Given the description of an element on the screen output the (x, y) to click on. 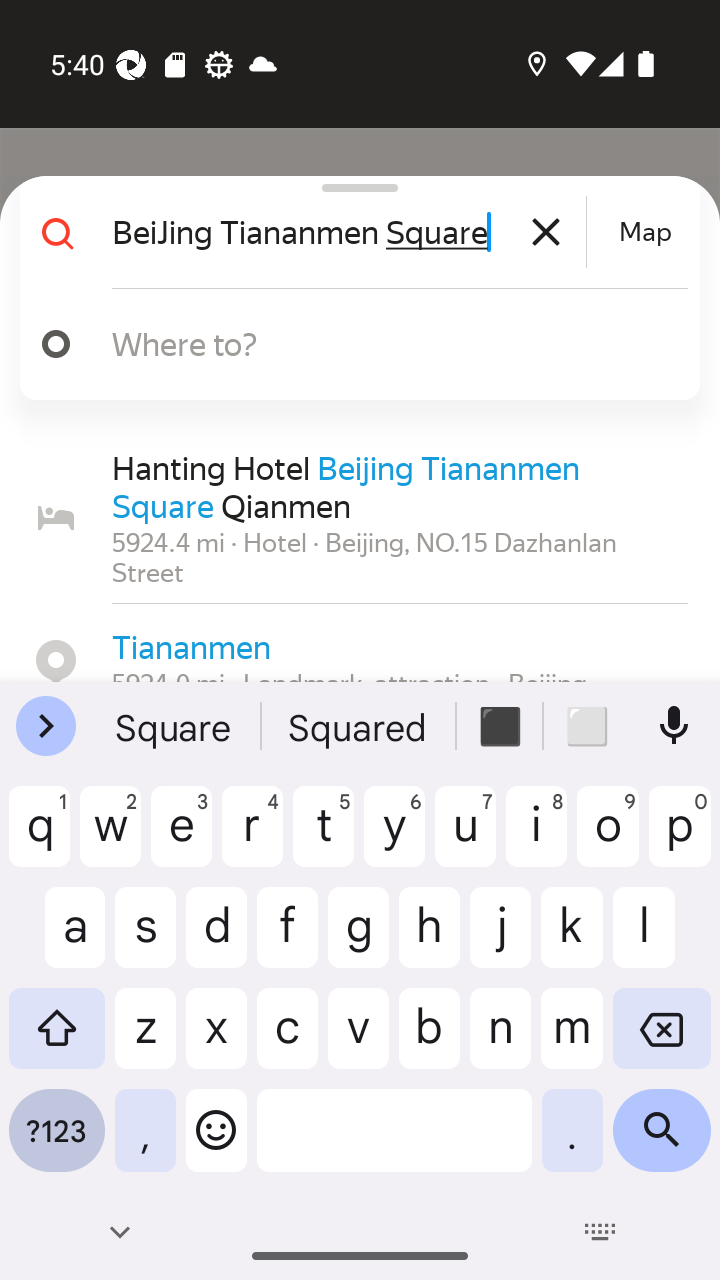
BeiJing Tiananmen Square Clear text box Map Map (352, 232)
Map (645, 232)
Clear text box (546, 231)
BeiJing Tiananmen Square (346, 232)
Where to? (352, 343)
Where to? (373, 343)
